Given the description of an element on the screen output the (x, y) to click on. 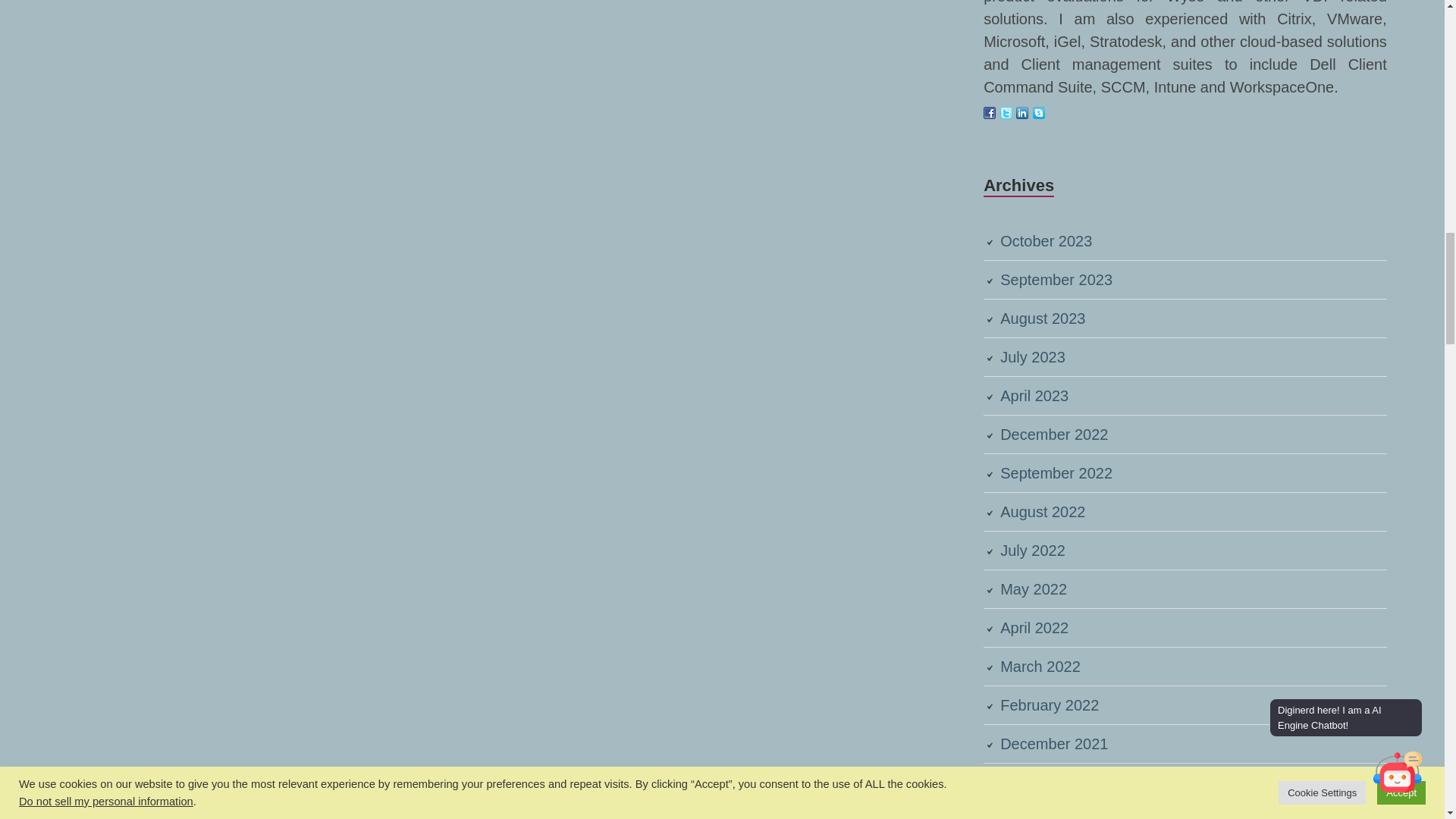
April 2023 (1034, 395)
August 2023 (1042, 318)
September 2022 (1056, 473)
May 2022 (1033, 588)
October 2023 (1046, 240)
September 2023 (1056, 279)
July 2023 (1032, 356)
August 2022 (1042, 511)
April 2022 (1034, 627)
December 2022 (1054, 434)
